Given the description of an element on the screen output the (x, y) to click on. 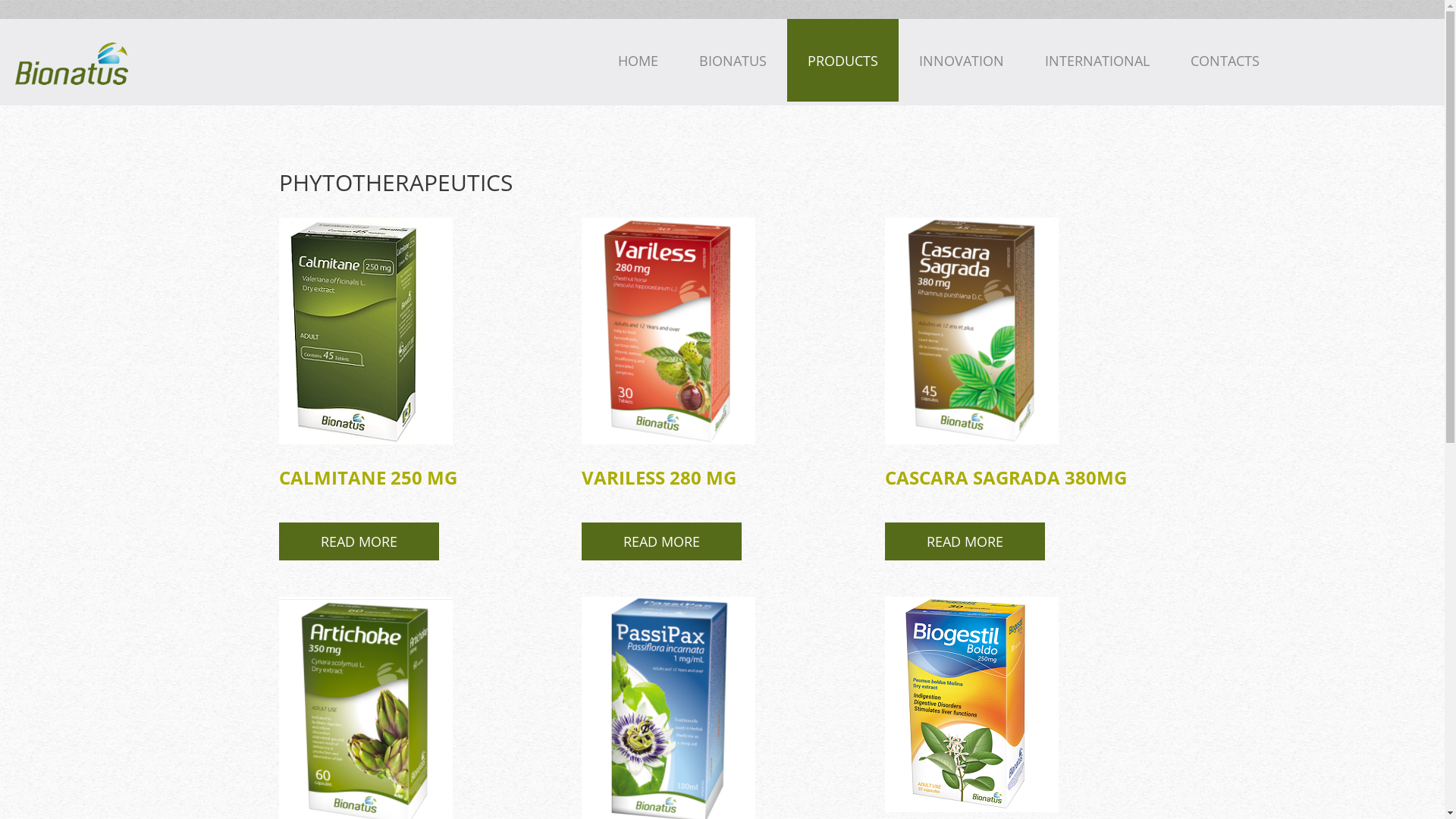
CASCARA SAGRADA 380MG Element type: text (1005, 476)
PRODUCTS Element type: text (842, 59)
READ MORE Element type: text (964, 541)
CONTACTS Element type: text (1225, 59)
INNOVATION Element type: text (961, 59)
HOME Element type: text (637, 59)
CALMITANE 250 MG Element type: text (368, 476)
BIONATUS Element type: text (732, 59)
READ MORE Element type: text (661, 541)
INTERNATIONAL Element type: text (1097, 59)
VARILESS 280 MG Element type: text (658, 476)
READ MORE Element type: text (359, 541)
